Given the description of an element on the screen output the (x, y) to click on. 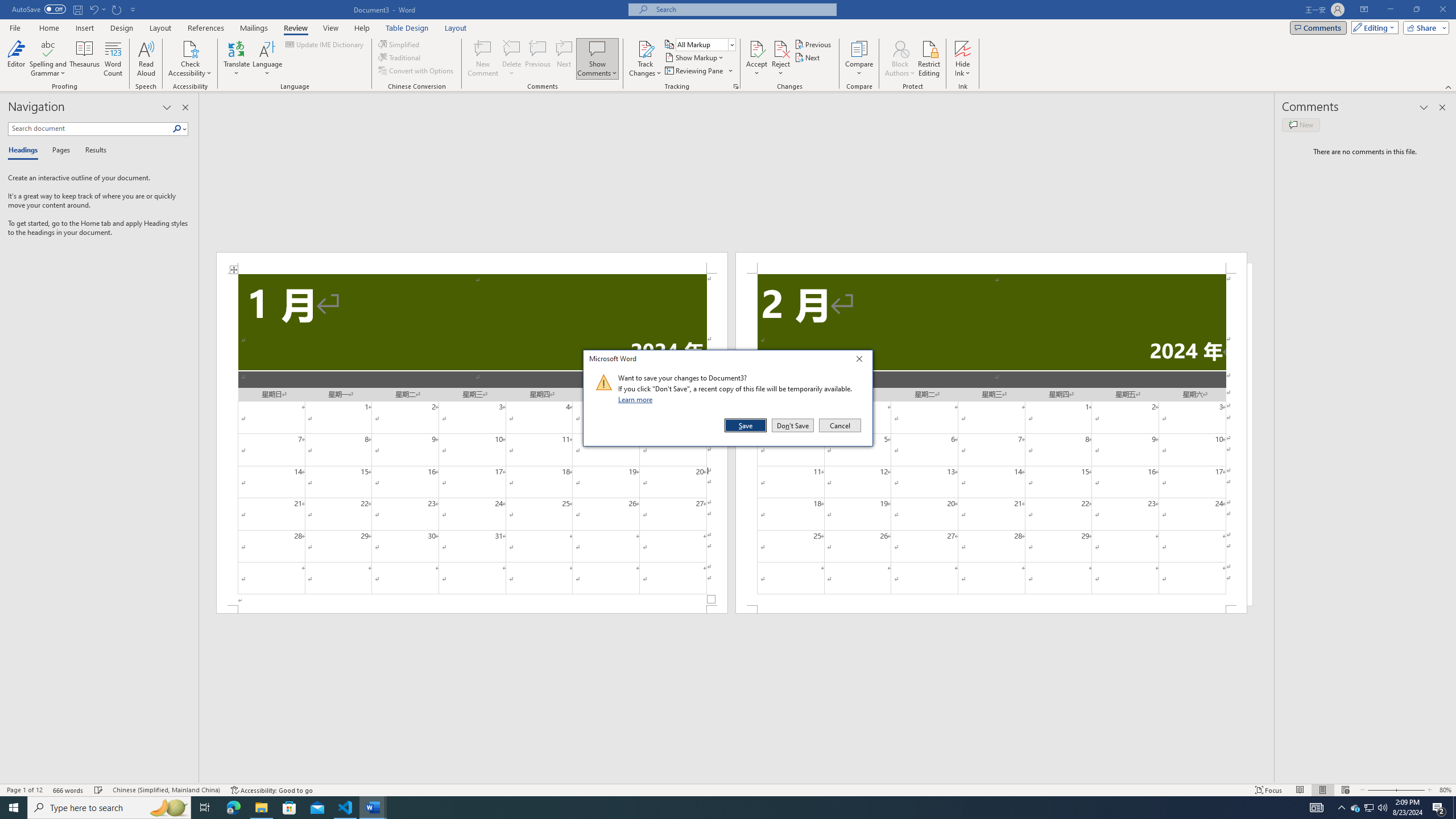
Display for Review (705, 44)
Check Accessibility (189, 58)
Header -Section 2- (991, 263)
Translate (236, 58)
Word - 2 running windows (373, 807)
Word Count (113, 58)
Language Chinese (Simplified, Mainland China) (1355, 807)
Traditional (165, 790)
Class: NetUIScrollBar (400, 56)
Track Changes (736, 778)
Delete (644, 58)
Restrict Editing (511, 58)
